Given the description of an element on the screen output the (x, y) to click on. 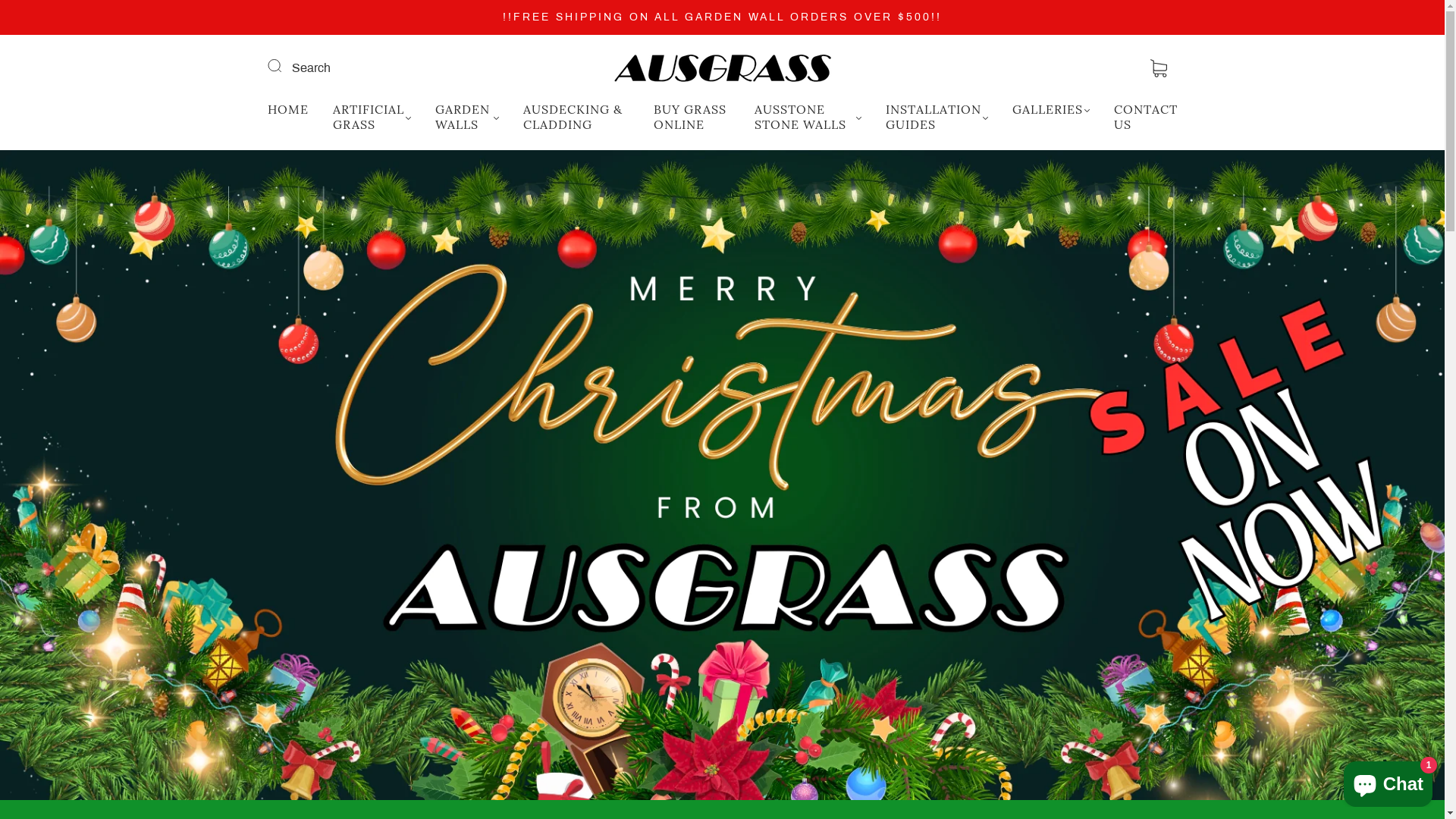
CONTACT US Element type: text (1145, 116)
AUSDECKING & CLADDING Element type: text (576, 116)
Shopify online store chat Element type: hover (1388, 780)
GARDEN WALLS Element type: text (466, 116)
ARTIFICIAL GRASS Element type: text (371, 116)
BUY GRASS ONLINE Element type: text (691, 116)
AUSSTONE STONE WALLS Element type: text (807, 116)
HOME Element type: text (286, 108)
GALLERIES Element type: text (1050, 108)
INSTALLATION GUIDES Element type: text (936, 116)
